Given the description of an element on the screen output the (x, y) to click on. 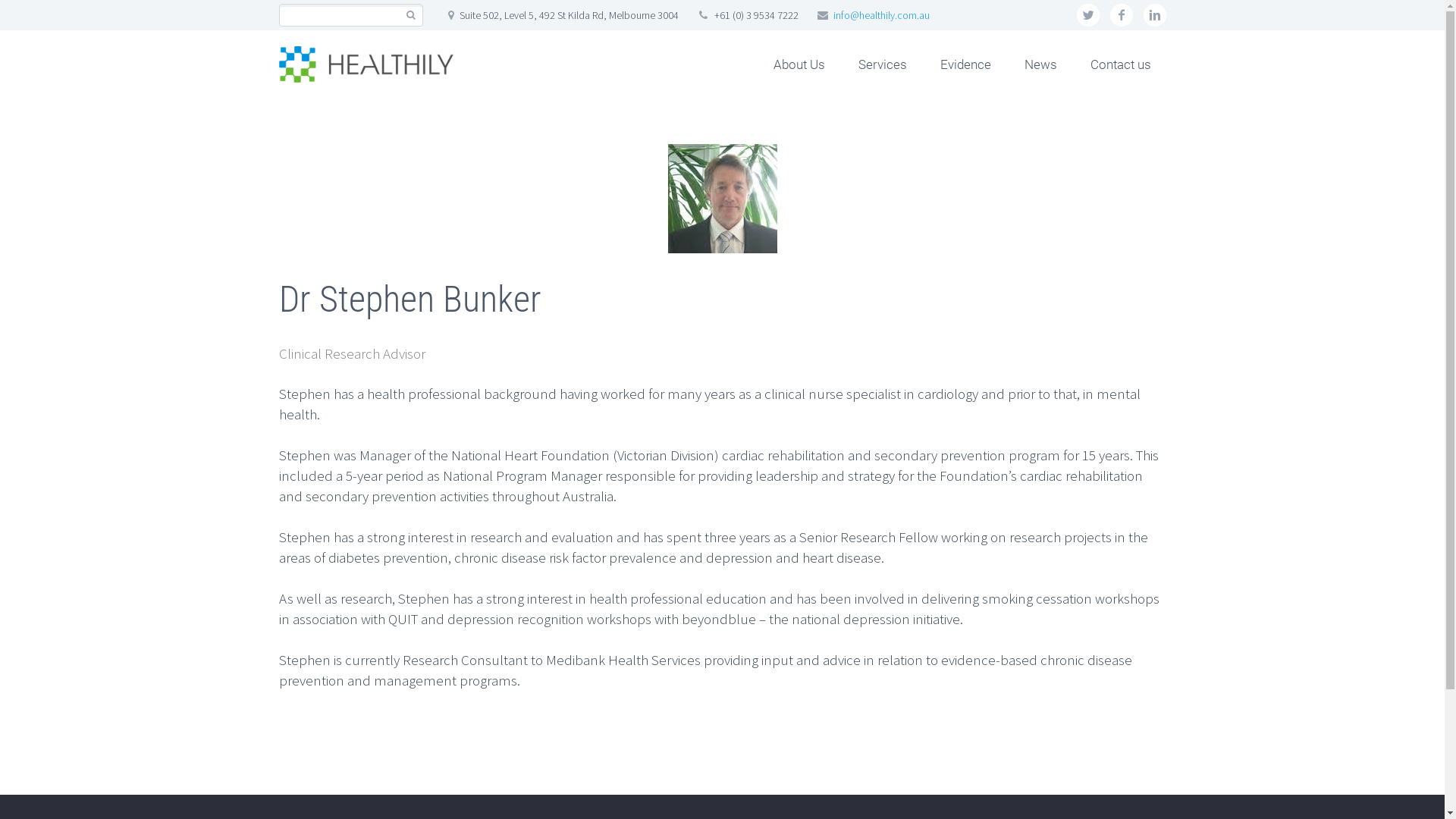
Contact us Element type: text (1120, 64)
Evidence Element type: text (965, 64)
info@healthily.com.au Element type: text (881, 14)
twitter Element type: text (1087, 14)
facebook Element type: text (1121, 14)
Search Element type: text (411, 15)
About Us Element type: text (799, 64)
Services Element type: text (882, 64)
linkedin Element type: text (1154, 14)
News Element type: text (1039, 64)
